Given the description of an element on the screen output the (x, y) to click on. 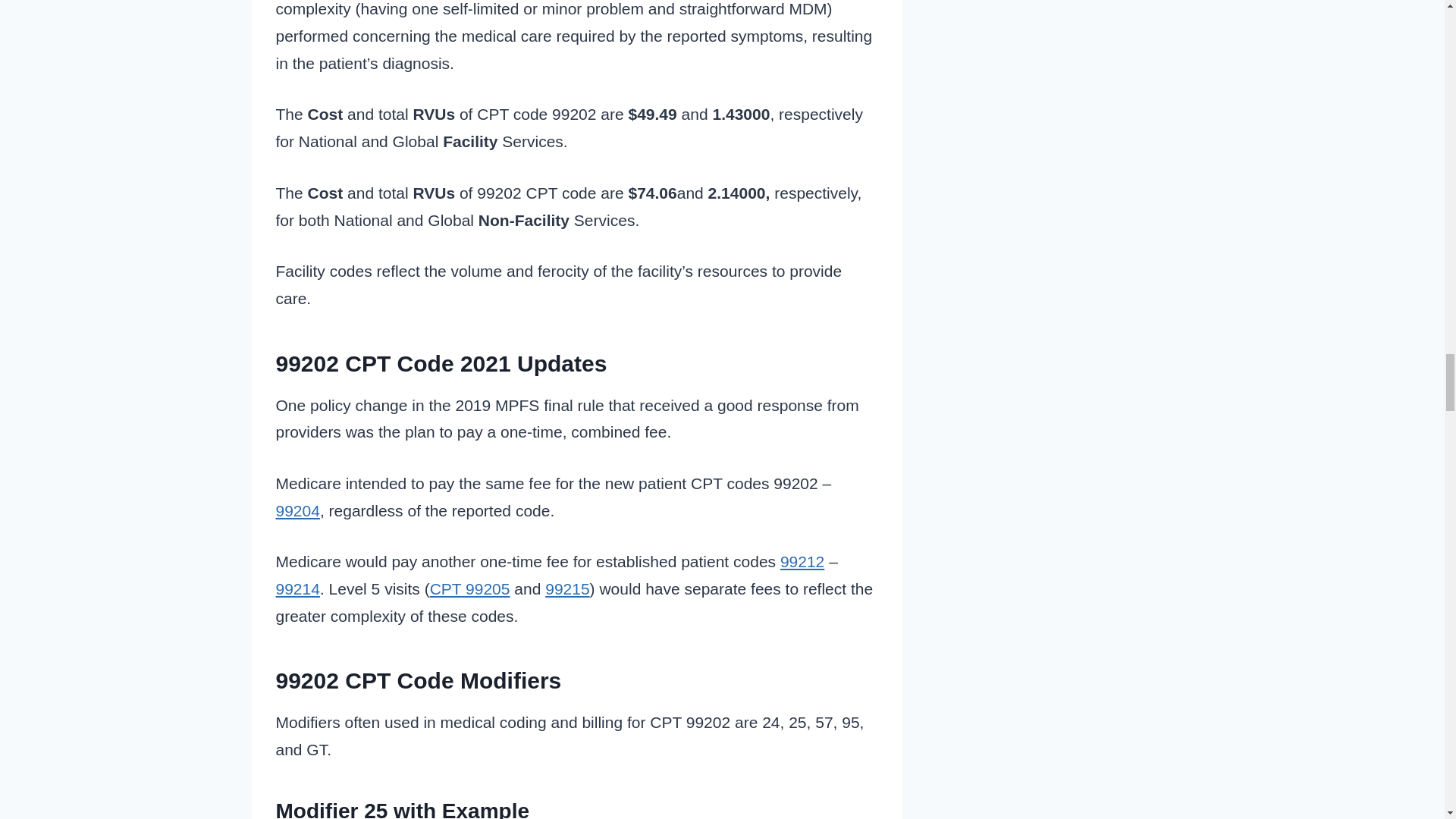
99215 (566, 588)
99204 (298, 510)
CPT 99205 (470, 588)
Modifier 25 (332, 809)
99212 (802, 561)
99214 (298, 588)
